Given the description of an element on the screen output the (x, y) to click on. 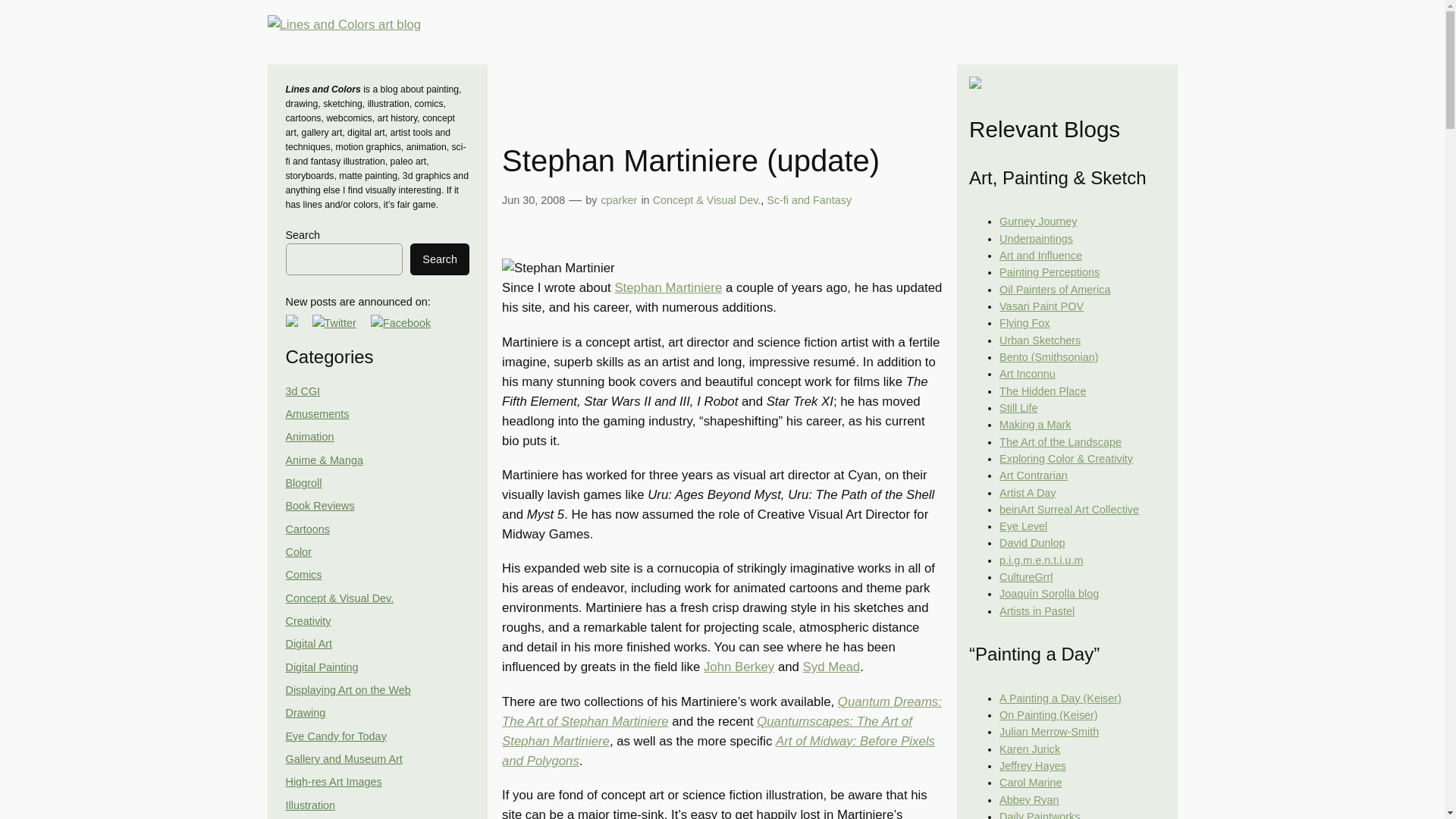
Comics (303, 574)
Drawing (304, 712)
Gallery and Museum Art (343, 758)
Color (298, 551)
Digital Art (308, 644)
Search (439, 259)
Illustration (309, 805)
Blogroll (303, 482)
Creativity (307, 621)
Animation (309, 436)
